Given the description of an element on the screen output the (x, y) to click on. 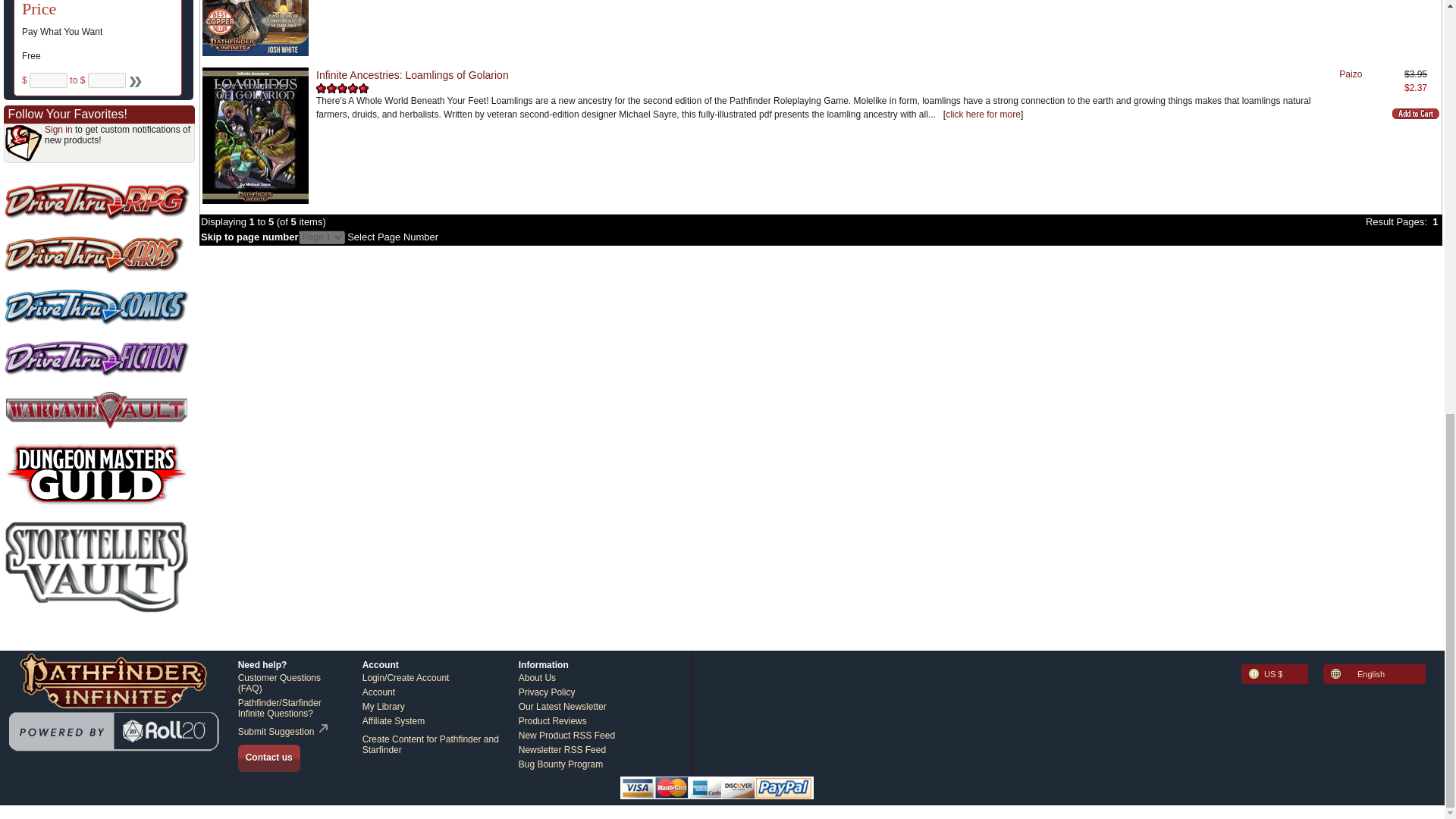
WarGameVault (96, 410)
 Search  (133, 80)
DriveThruRPG (96, 201)
Storytellers Vault (96, 567)
DriveThruFiction (96, 358)
Dungeon Masters Guild (96, 474)
DriveThruCards (96, 254)
DriveThruComics (96, 306)
